Given the description of an element on the screen output the (x, y) to click on. 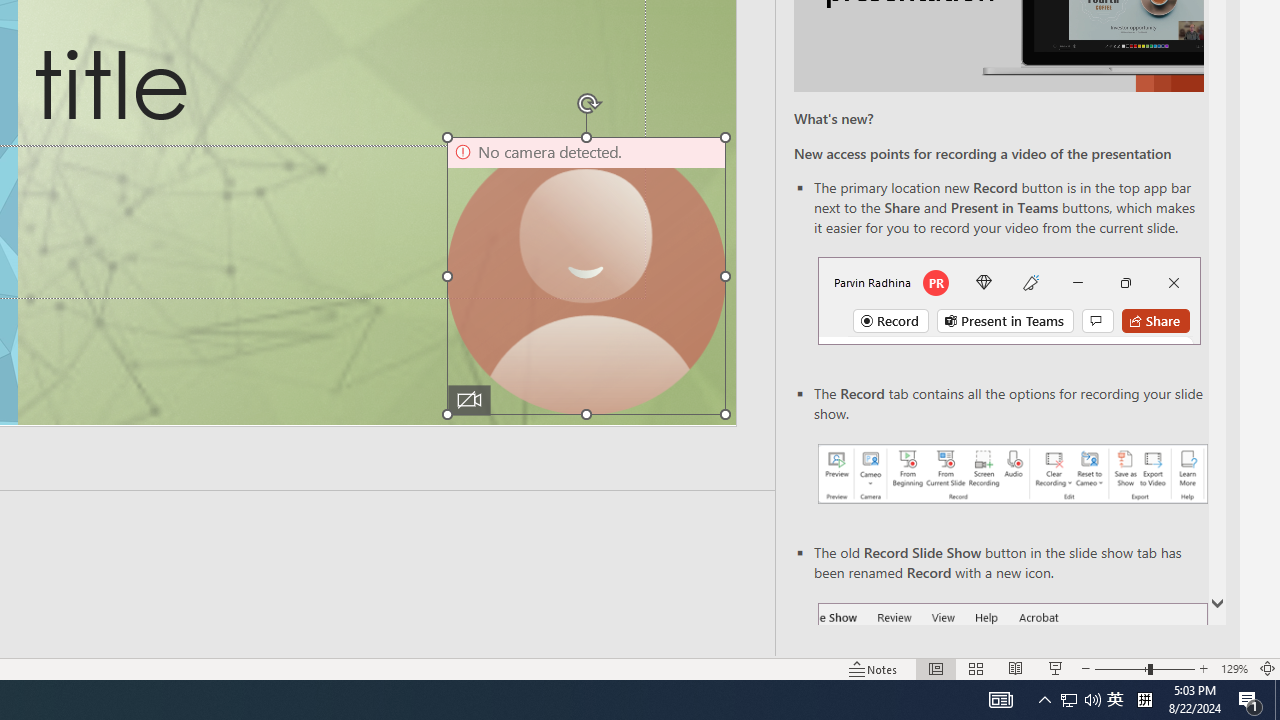
Camera 9, No camera detected. (586, 275)
Record your presentations screenshot one (1012, 473)
Record button in top bar (1008, 300)
Zoom 129% (1234, 668)
